Given the description of an element on the screen output the (x, y) to click on. 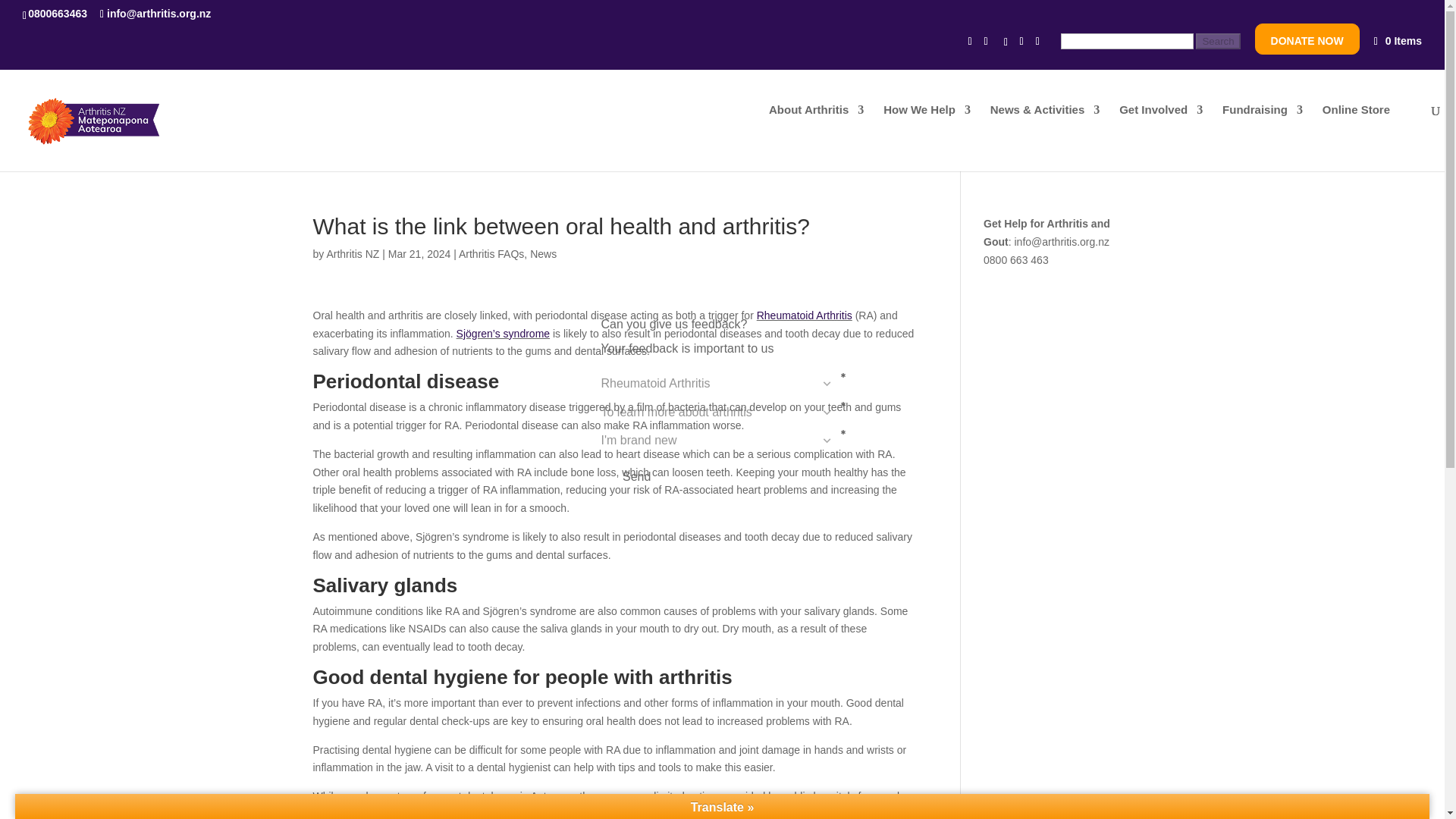
0 Items (1396, 40)
Posts by Arthritis NZ (352, 254)
Search (1217, 41)
DONATE NOW (1307, 44)
Search (1217, 41)
About Arthritis (815, 126)
0800663463 (60, 13)
Search for: (1150, 45)
